Given the description of an element on the screen output the (x, y) to click on. 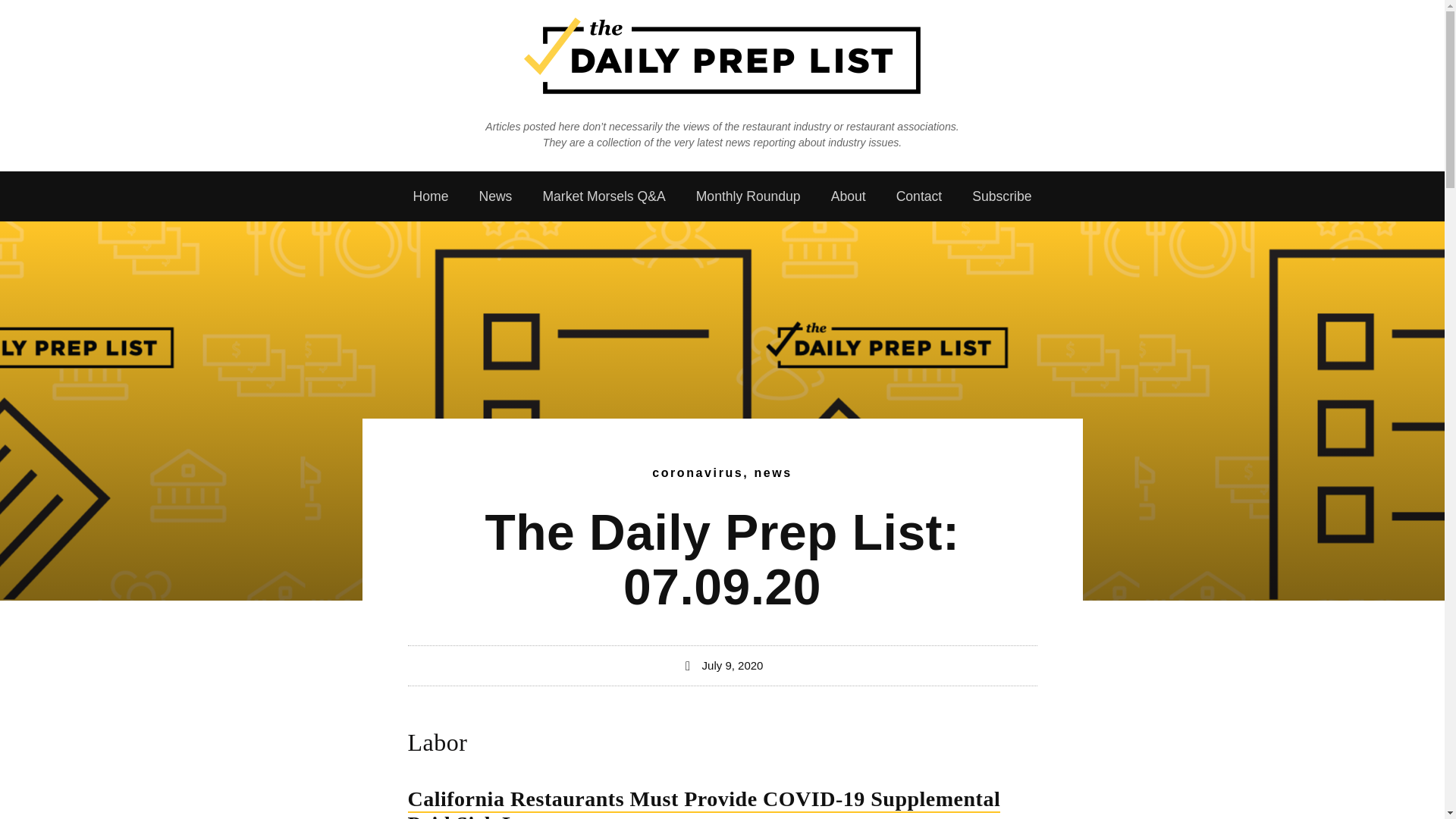
Subscribe (1001, 196)
Monthly Roundup (748, 196)
About (847, 196)
news (773, 472)
July 9, 2020 (721, 665)
News (495, 196)
coronavirus (697, 472)
Home (430, 196)
Contact (919, 196)
